Given the description of an element on the screen output the (x, y) to click on. 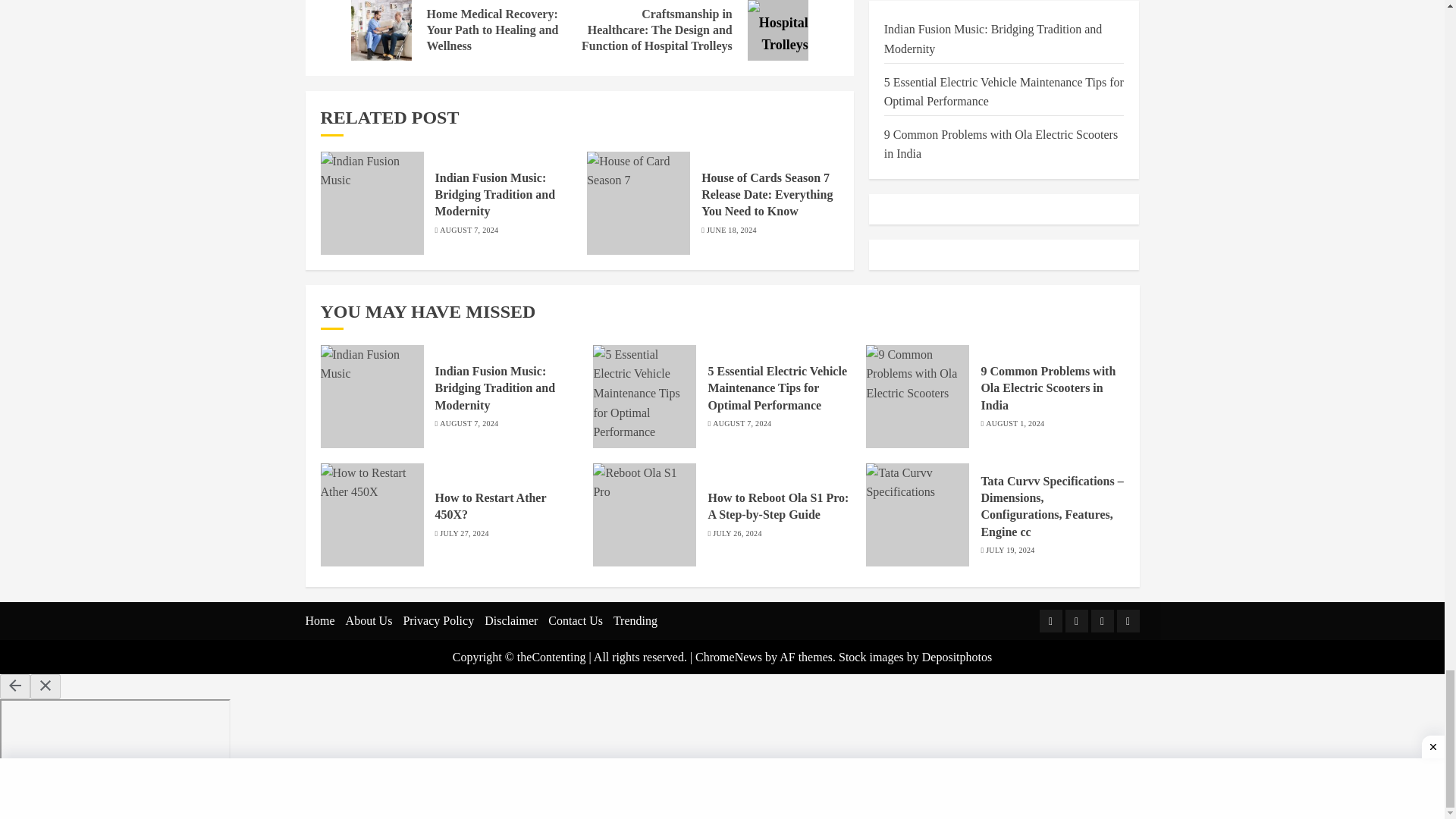
JUNE 18, 2024 (731, 230)
Indian Fusion Music: Bridging Tradition and Modernity (495, 195)
AUGUST 7, 2024 (468, 230)
